Given the description of an element on the screen output the (x, y) to click on. 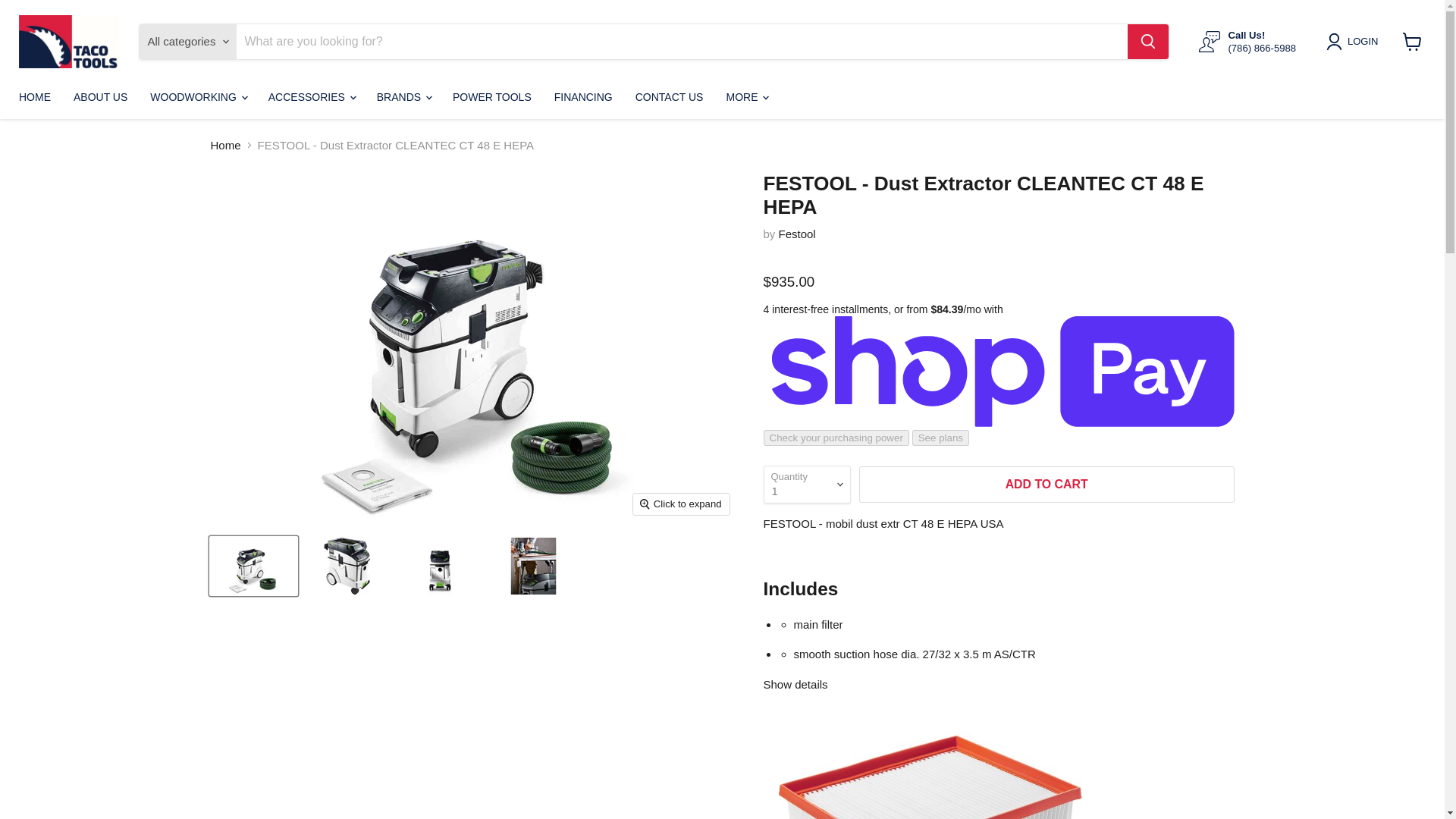
Festool (796, 233)
LOGIN (1362, 41)
HOME (34, 97)
View cart (1411, 41)
ABOUT US (100, 97)
